Given the description of an element on the screen output the (x, y) to click on. 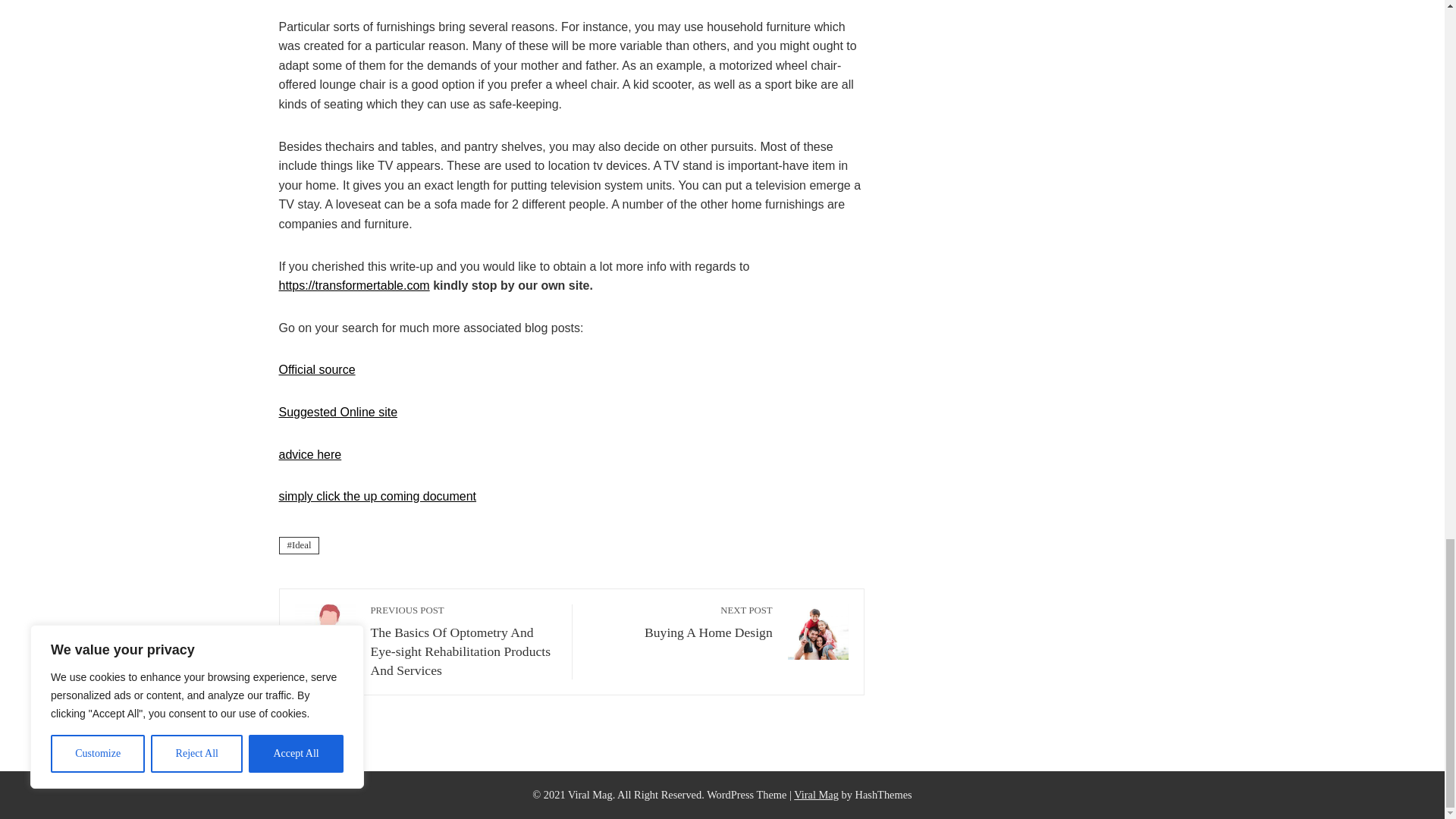
Ideal (299, 545)
Suggested Online site (338, 411)
Download Viral News (815, 794)
Official source (680, 622)
advice here (317, 369)
simply click the up coming document (310, 454)
